Given the description of an element on the screen output the (x, y) to click on. 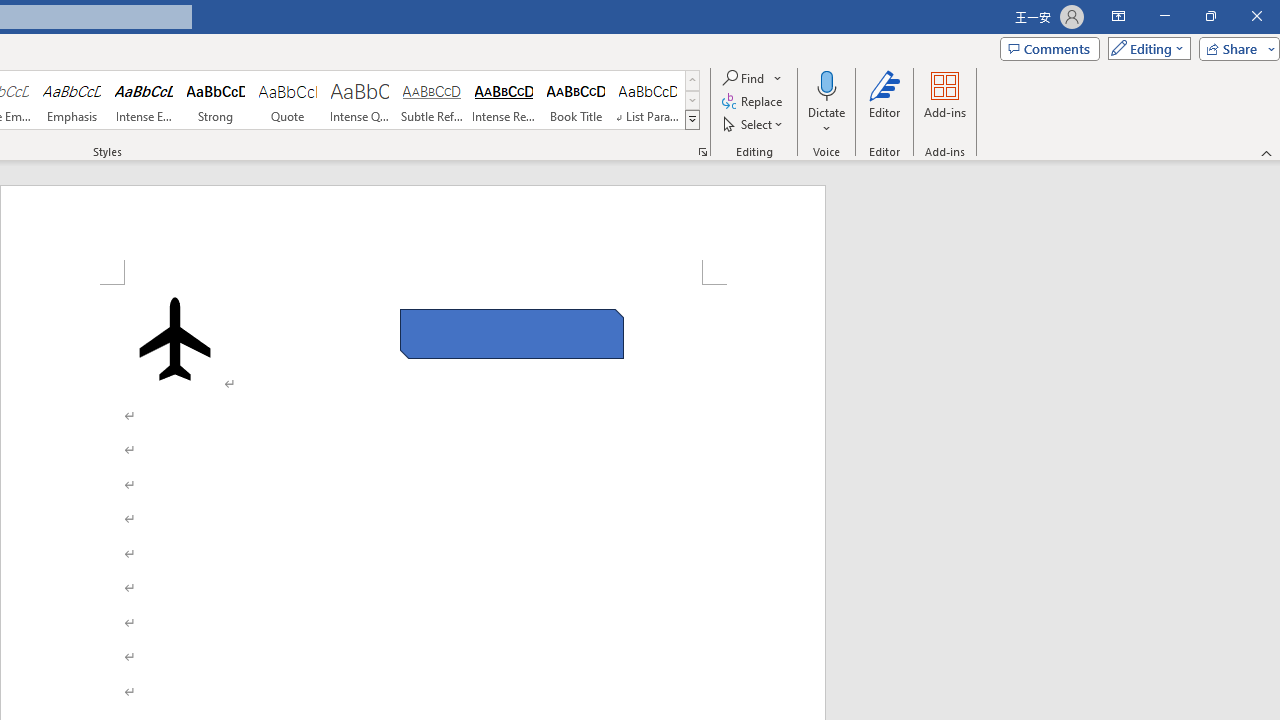
Replace... (753, 101)
Emphasis (71, 100)
